Given the description of an element on the screen output the (x, y) to click on. 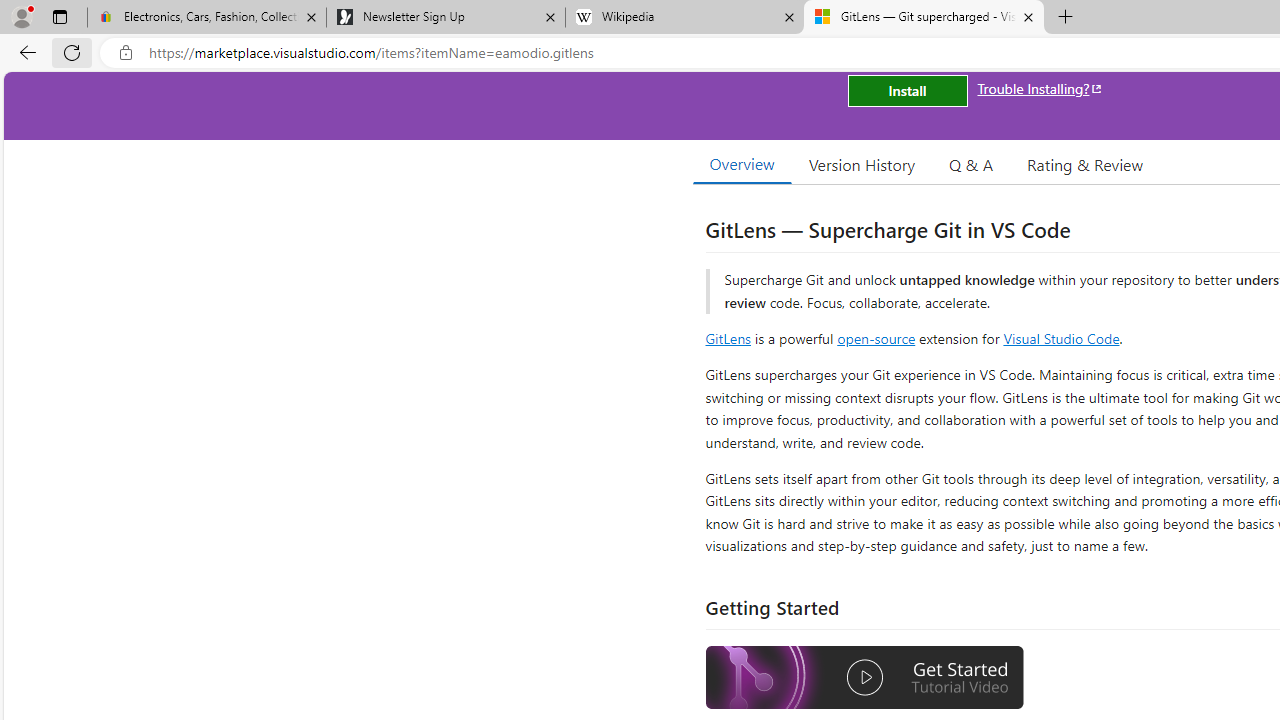
Q & A (971, 164)
Watch the GitLens Getting Started video (865, 678)
Version History (862, 164)
Visual Studio Code (1061, 337)
